Given the description of an element on the screen output the (x, y) to click on. 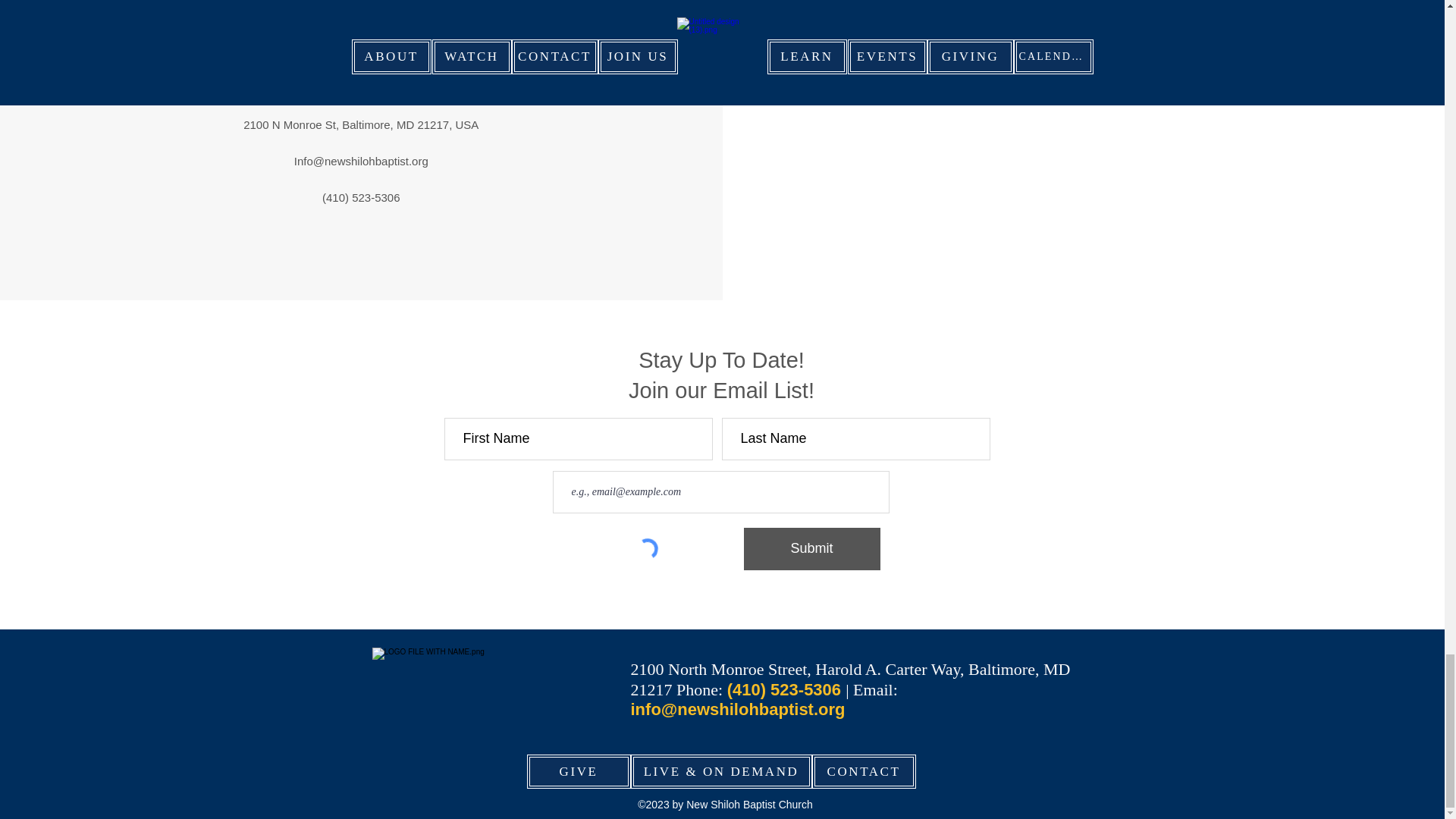
CONTACT (862, 771)
Submit (810, 548)
GIVE (577, 771)
